Given the description of an element on the screen output the (x, y) to click on. 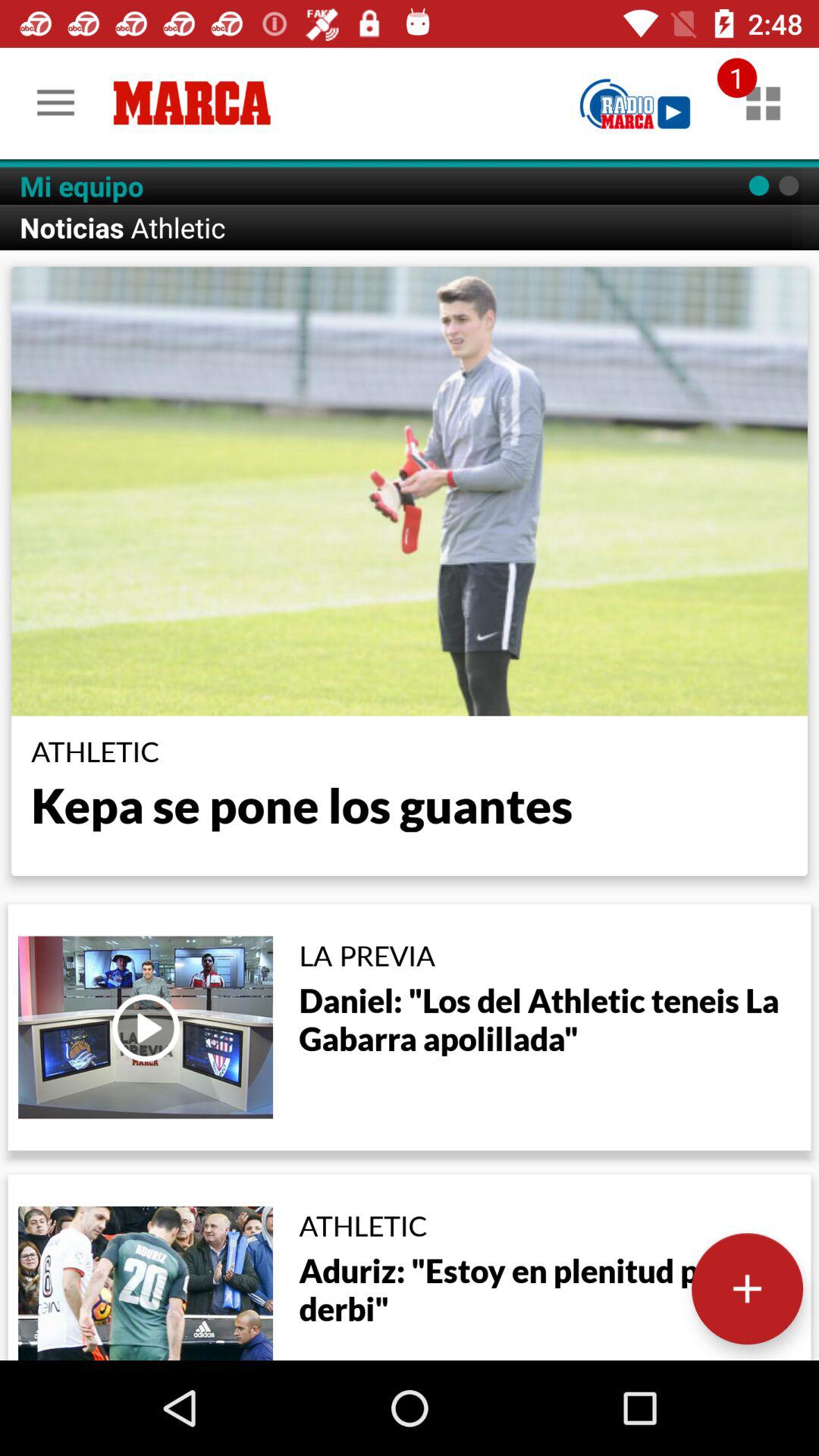
launch item below daniel los del item (747, 1288)
